Given the description of an element on the screen output the (x, y) to click on. 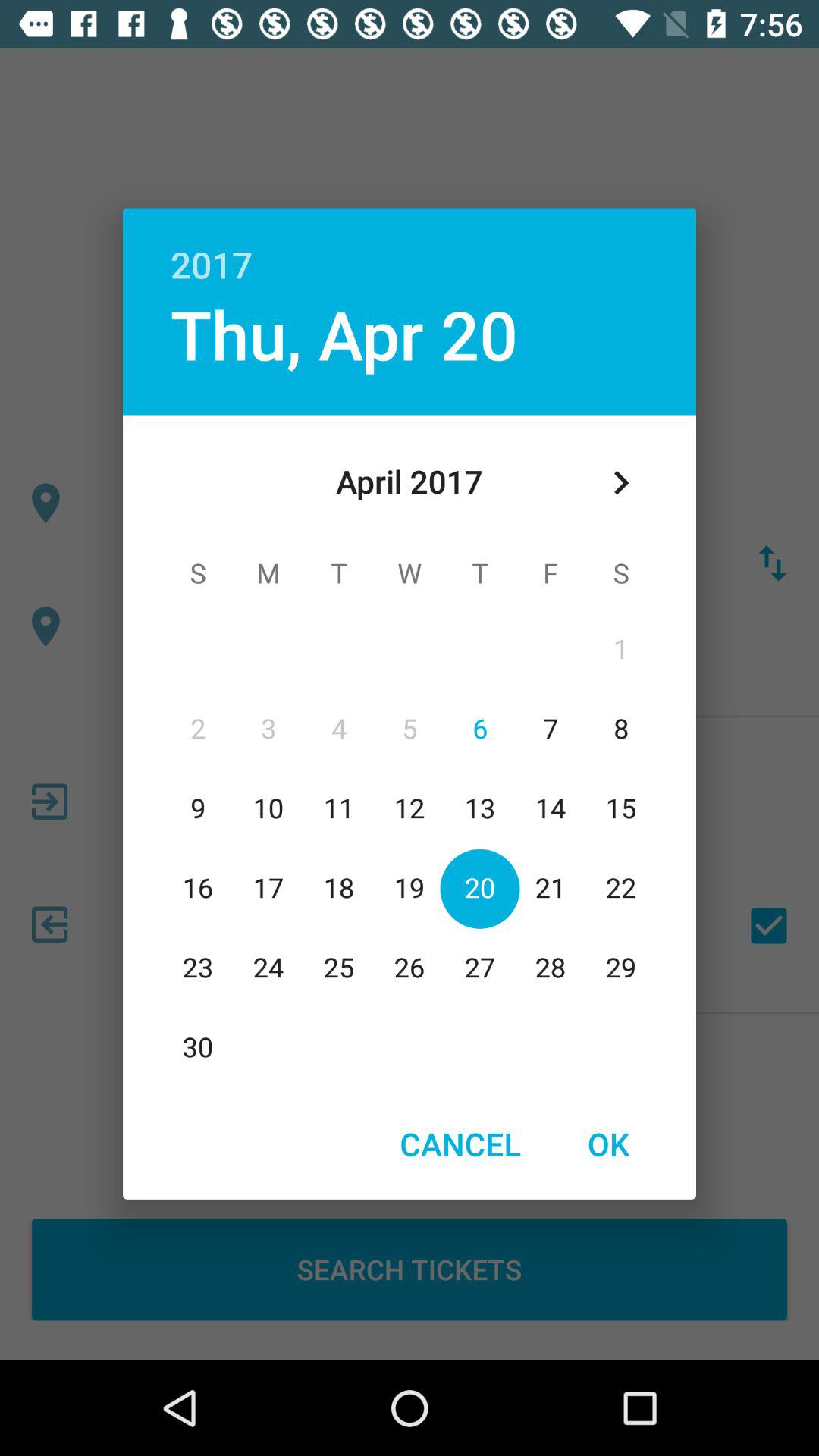
swipe until the cancel (459, 1143)
